Given the description of an element on the screen output the (x, y) to click on. 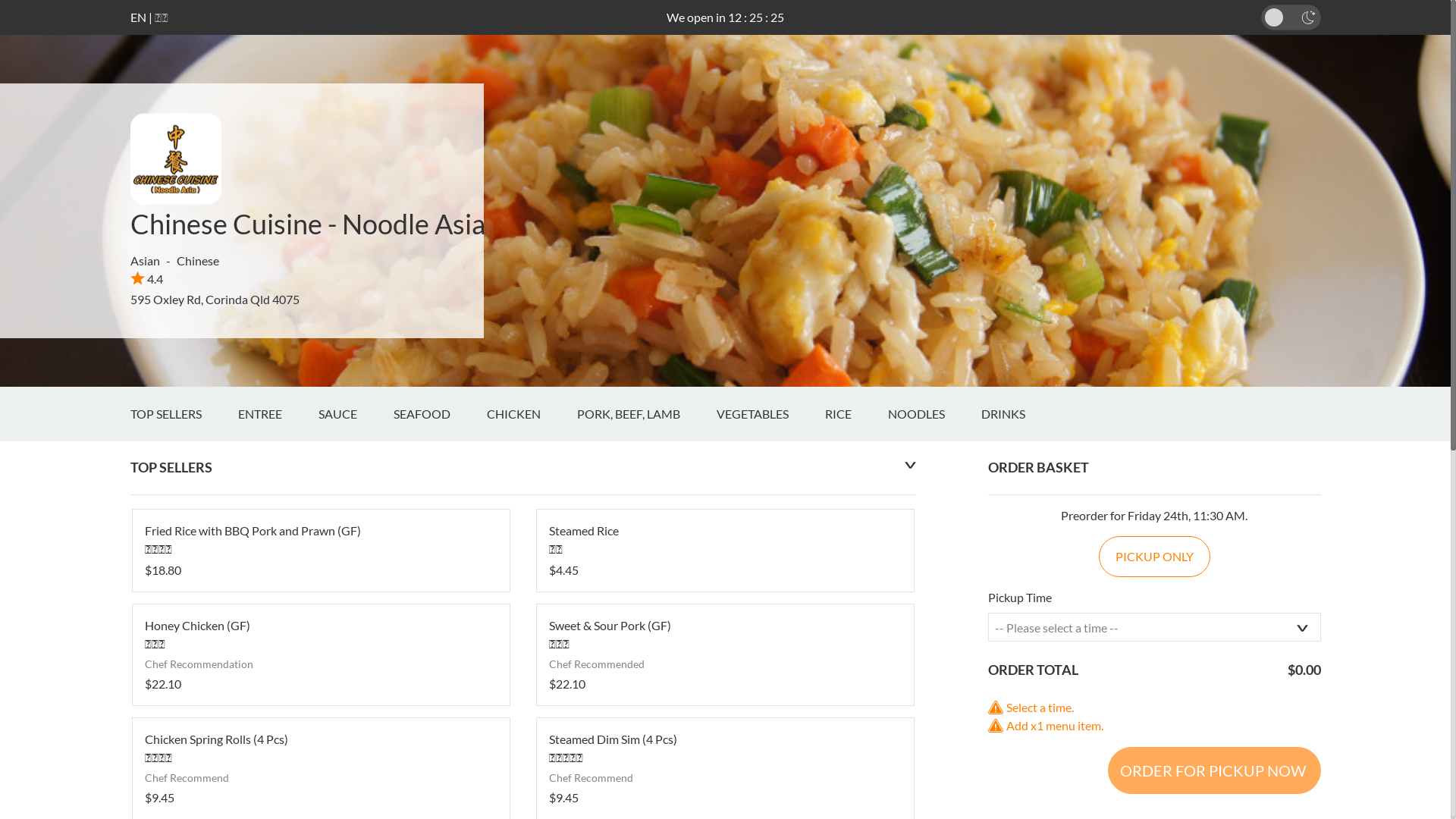
EN Element type: text (138, 16)
TOP SELLERS Element type: text (184, 413)
NOODLES Element type: text (933, 413)
ORDER FOR PICKUP NOW  Element type: text (1213, 769)
SAUCE Element type: text (355, 413)
ENTREE Element type: text (278, 413)
VEGETABLES Element type: text (769, 413)
PORK, BEEF, LAMB Element type: text (645, 413)
4.4 Element type: text (146, 278)
PICKUP ONLY Element type: text (1154, 556)
CHICKEN Element type: text (531, 413)
Chinese Cuisine - Noodle Asia Element type: text (307, 223)
RICE Element type: text (856, 413)
SEAFOOD Element type: text (439, 413)
DRINKS Element type: text (1021, 413)
